Given the description of an element on the screen output the (x, y) to click on. 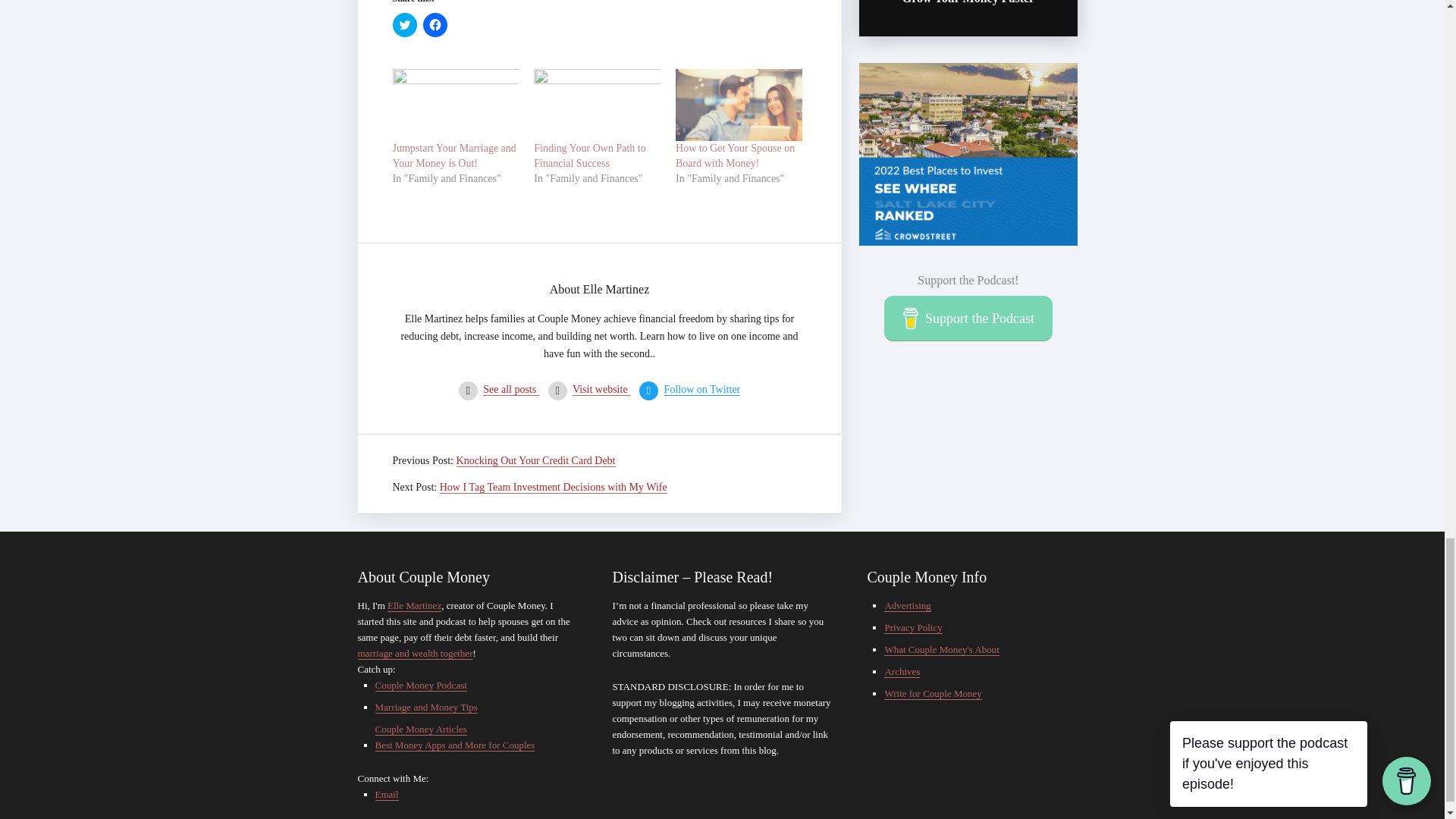
Click to share on Twitter (404, 24)
Finding Your Own Path to Financial Success (589, 155)
Finding Your Own Path to Financial Success (589, 155)
Knocking Out Your Credit Card Debt (536, 460)
Follow on Twitter (702, 389)
How to Get Your Spouse on Board with Money! (738, 104)
Visit website (601, 389)
Jumpstart Your Marriage and Your Money is Out! (454, 155)
Jumpstart Your Marriage and Your Money is Out! (454, 155)
Finding Your Own Path to Financial Success (597, 104)
How to Get Your Spouse on Board with Money! (734, 155)
How I Tag Team Investment Decisions with My Wife (552, 487)
How to Get Your Spouse on Board with Money! (734, 155)
See all posts (510, 389)
Click to share on Facebook (434, 24)
